Given the description of an element on the screen output the (x, y) to click on. 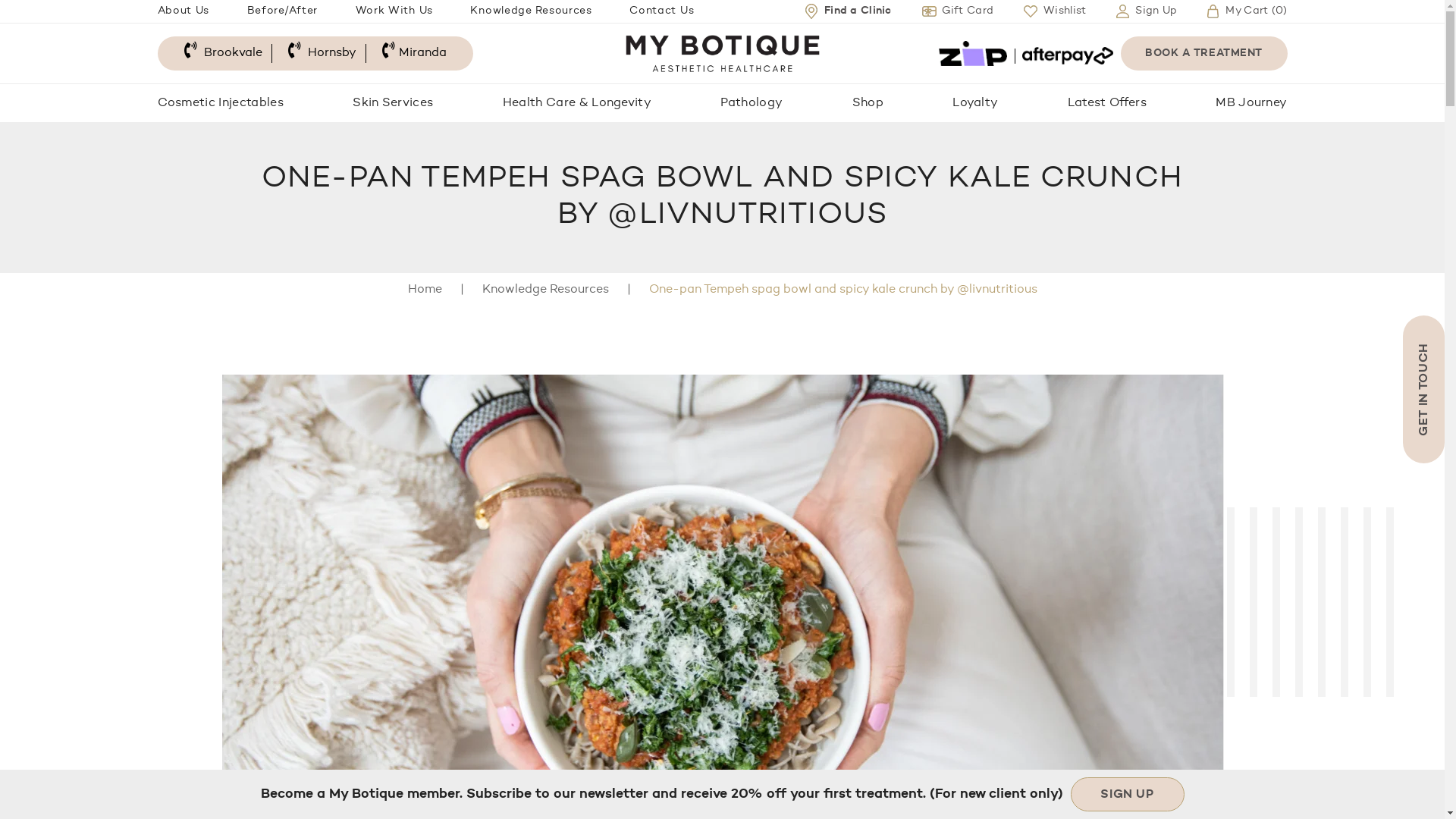
Wishlist Element type: text (1054, 11)
Gift Card Element type: text (958, 11)
Hornsby Element type: text (322, 53)
Knowledge Resources Element type: text (545, 289)
Pathology Element type: text (751, 103)
Health Care & Longevity Element type: text (576, 103)
Loyalty Element type: text (974, 103)
Sign Up Element type: text (1146, 11)
Before/After Element type: text (282, 11)
Home Element type: text (424, 289)
BOOK A TREATMENT Element type: text (1203, 53)
My Cart (0) Element type: text (1246, 11)
Cosmetic Injectables Element type: text (220, 103)
Knowledge Resources Element type: text (530, 11)
MB Journey Element type: text (1250, 103)
Miranda Element type: text (414, 53)
Latest Offers Element type: text (1106, 103)
Skin Services Element type: text (392, 103)
SIGN UP Element type: text (1127, 794)
About Us Element type: text (183, 11)
Find a Clinic Element type: text (848, 11)
Work With Us Element type: text (394, 11)
Brookvale Element type: text (222, 53)
Contact Us Element type: text (661, 11)
Shop Element type: text (867, 103)
My Botique Element type: hover (722, 53)
